Given the description of an element on the screen output the (x, y) to click on. 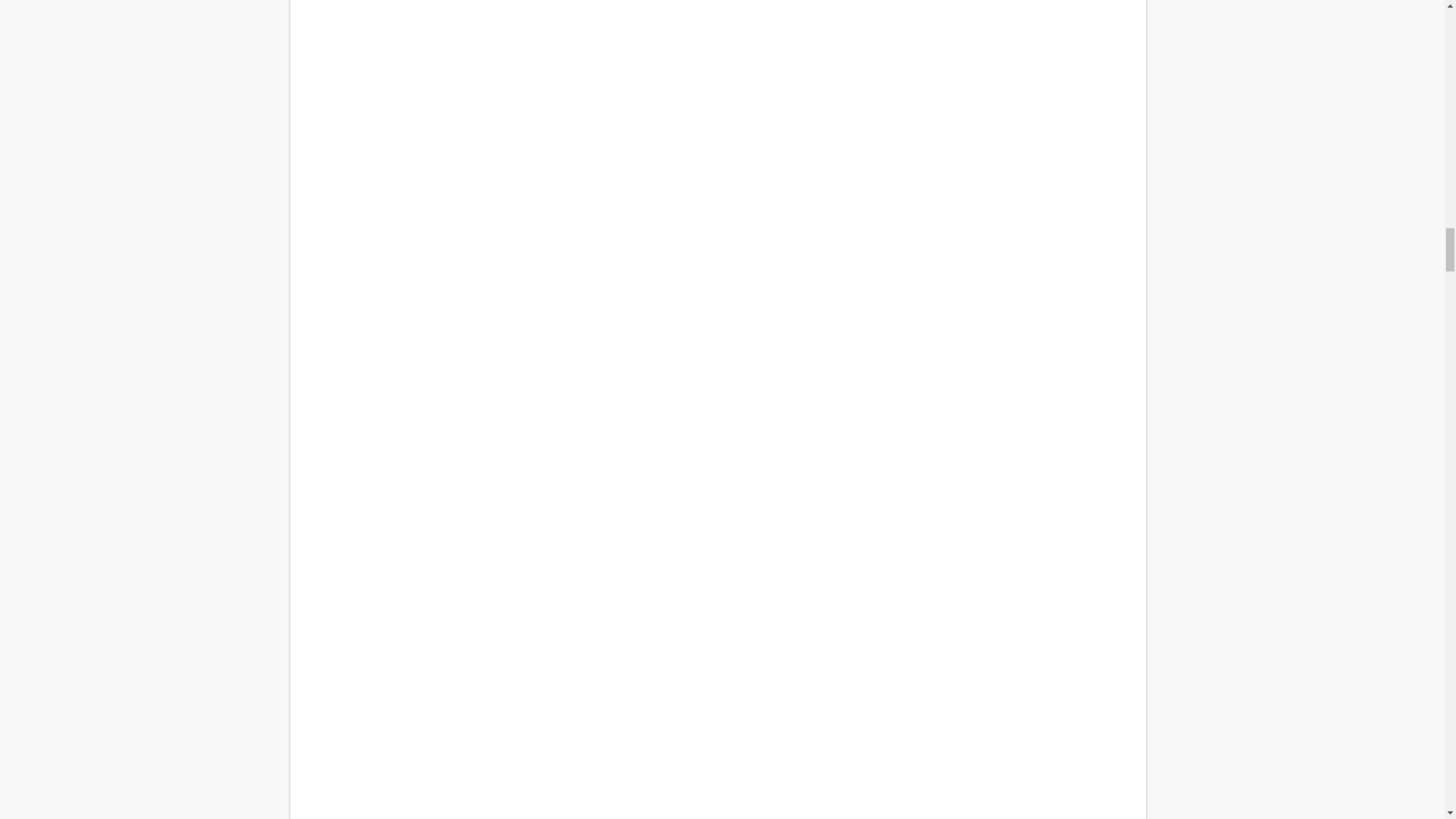
Commonly confused words (717, 154)
